Given the description of an element on the screen output the (x, y) to click on. 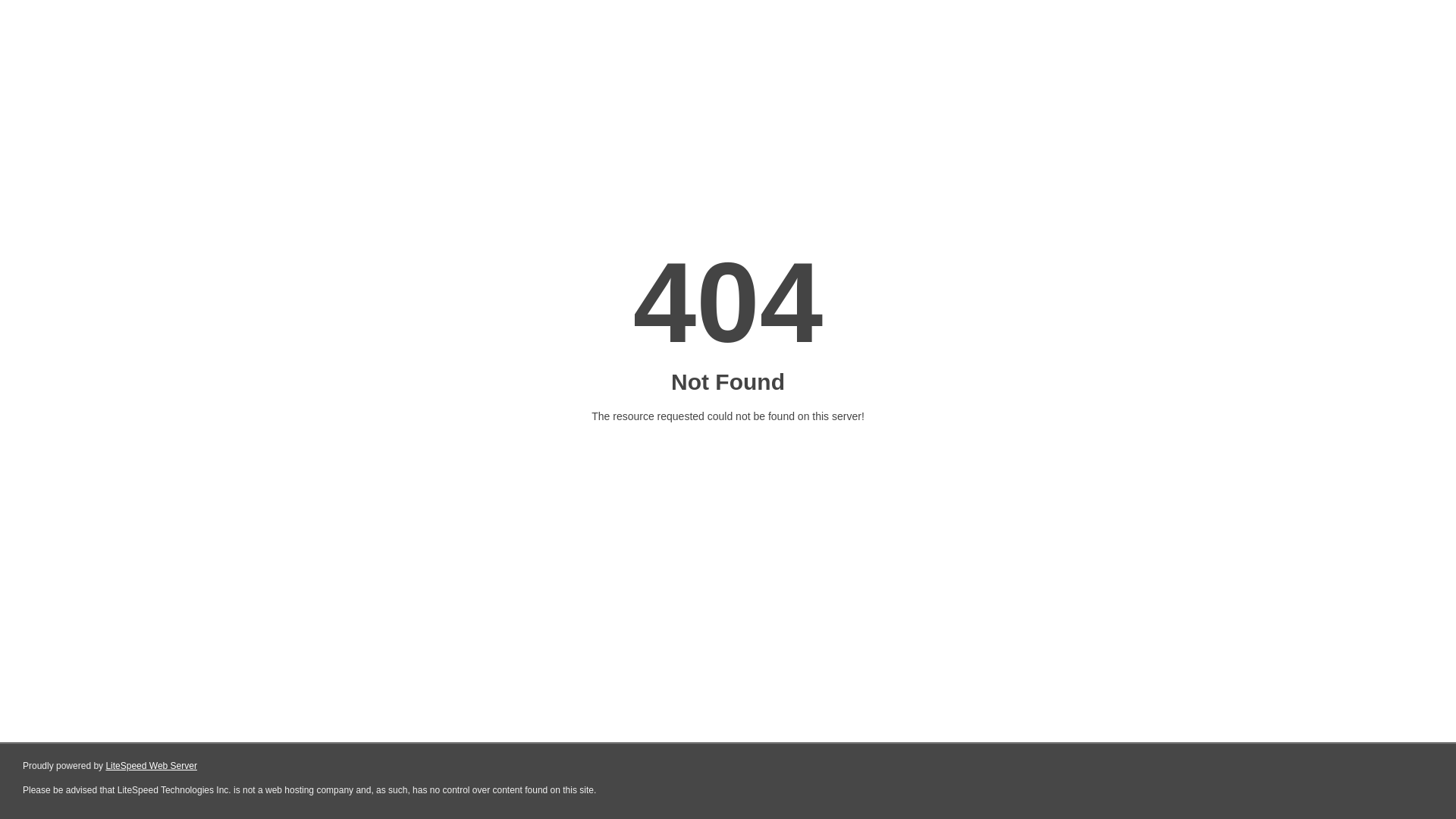
LiteSpeed Web Server Element type: text (151, 765)
